Given the description of an element on the screen output the (x, y) to click on. 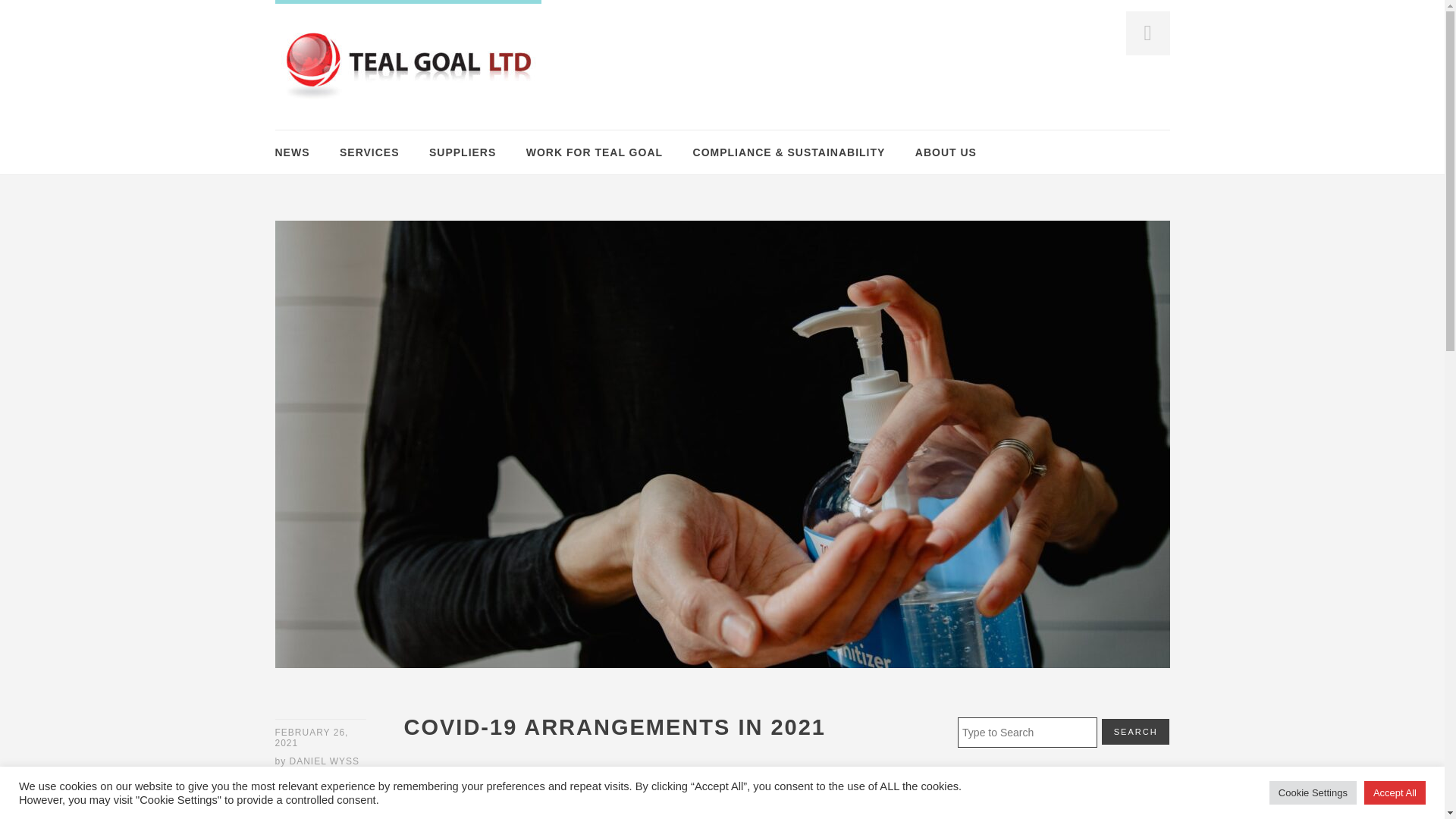
Search (1136, 731)
Search (34, 13)
SUPPLIERS (462, 152)
SERVICES (368, 152)
FEBRUARY 26, 2021 (320, 737)
DANIEL WYSS (324, 760)
Search (1136, 731)
NEWS (291, 152)
Cookie Settings (1312, 792)
All posts by Daniel Wyss (324, 760)
Accept All (1394, 792)
Operating (300, 805)
Teal Goal Ltd (407, 65)
WORK FOR TEAL GOAL (593, 152)
ABOUT US (945, 152)
